Given the description of an element on the screen output the (x, y) to click on. 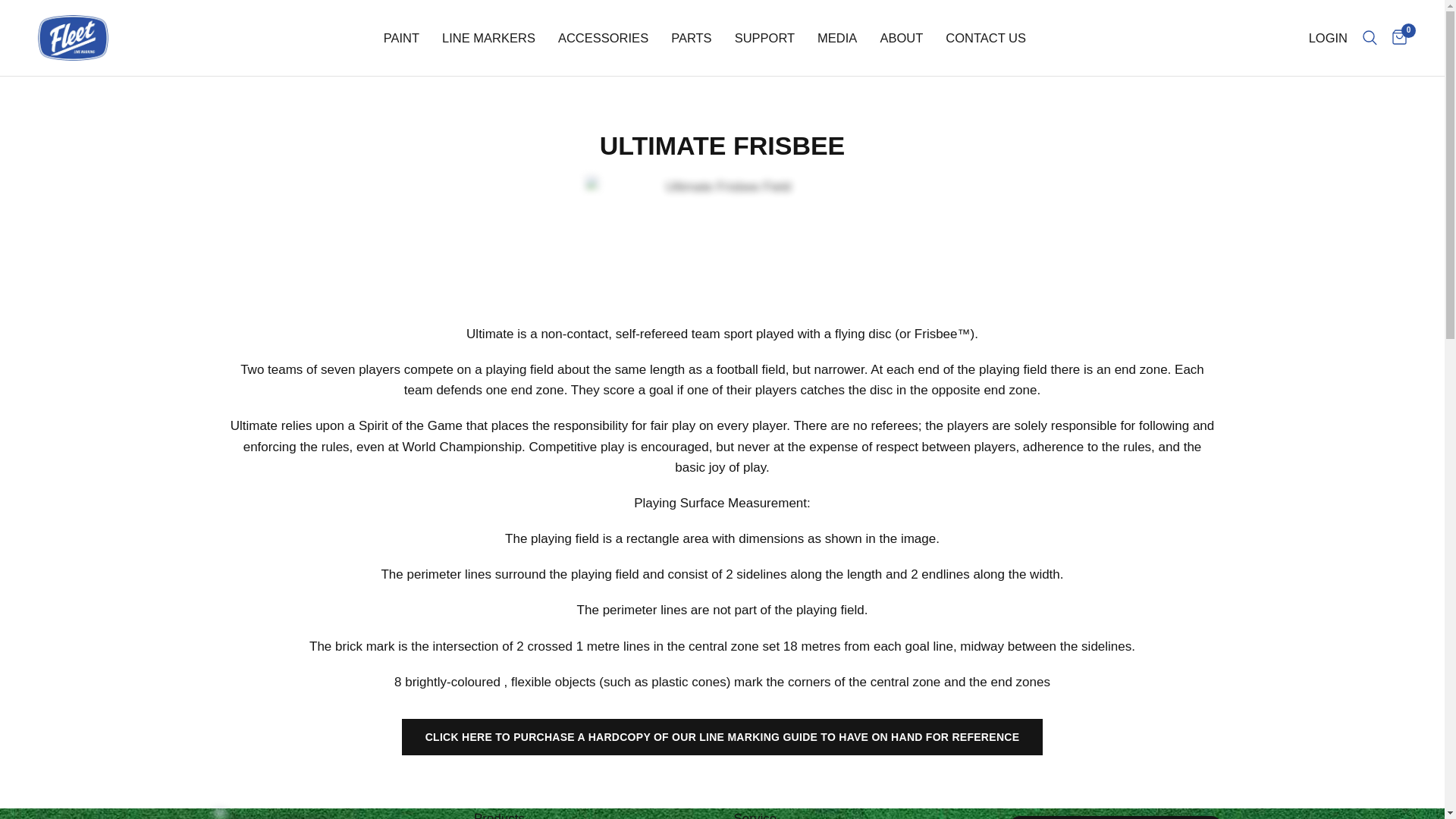
PARTS (691, 37)
MEDIA (836, 37)
About (901, 37)
Service (755, 815)
Media (836, 37)
PAINT (401, 37)
Paint (401, 37)
SUPPORT (764, 37)
LINE MARKERS (488, 37)
CONTACT US (985, 37)
Support (764, 37)
ABOUT (901, 37)
ACCESSORIES (602, 37)
Line Markers (488, 37)
